Given the description of an element on the screen output the (x, y) to click on. 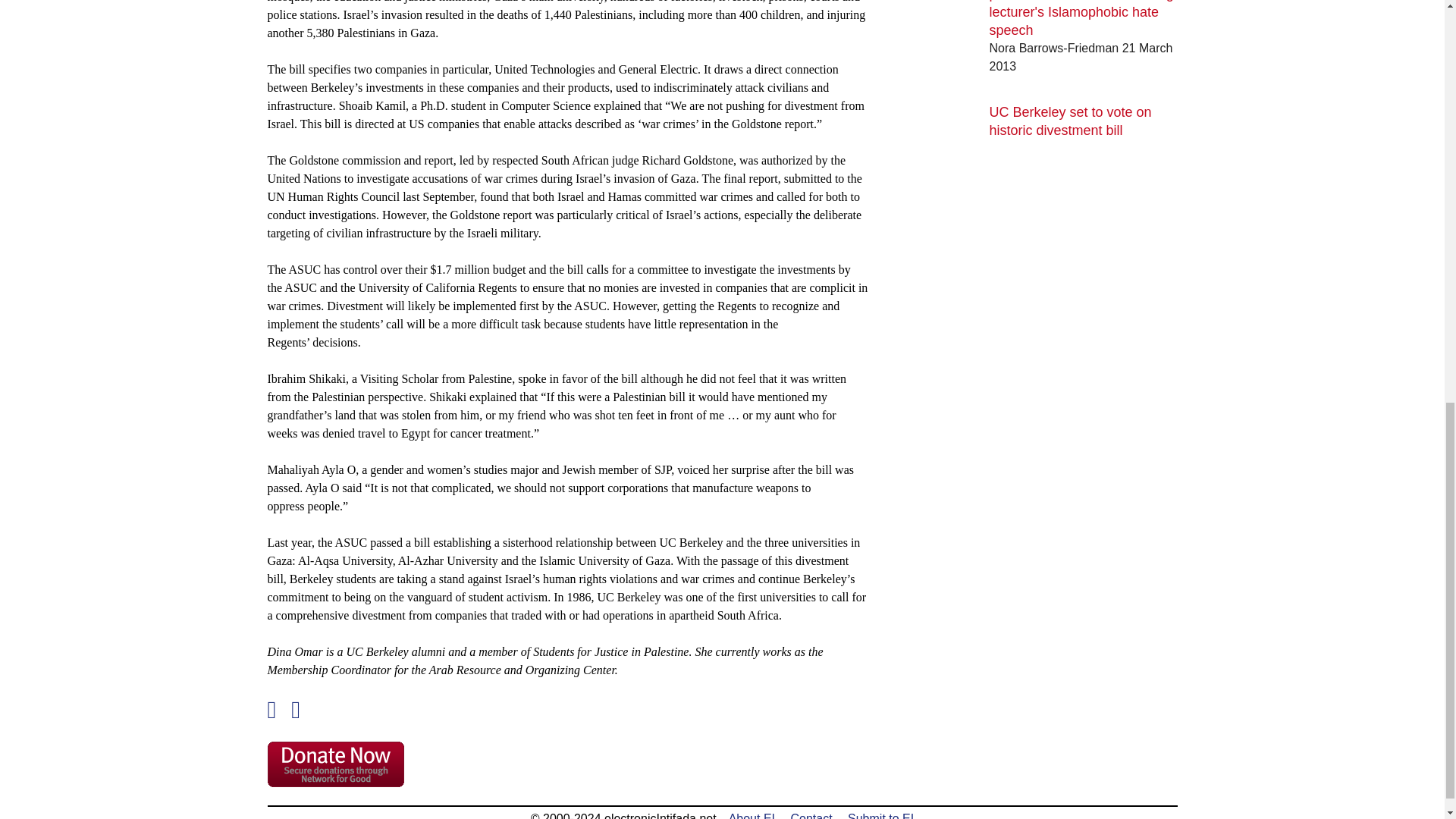
UC Berkeley set to vote on historic divestment bill (1070, 121)
